Given the description of an element on the screen output the (x, y) to click on. 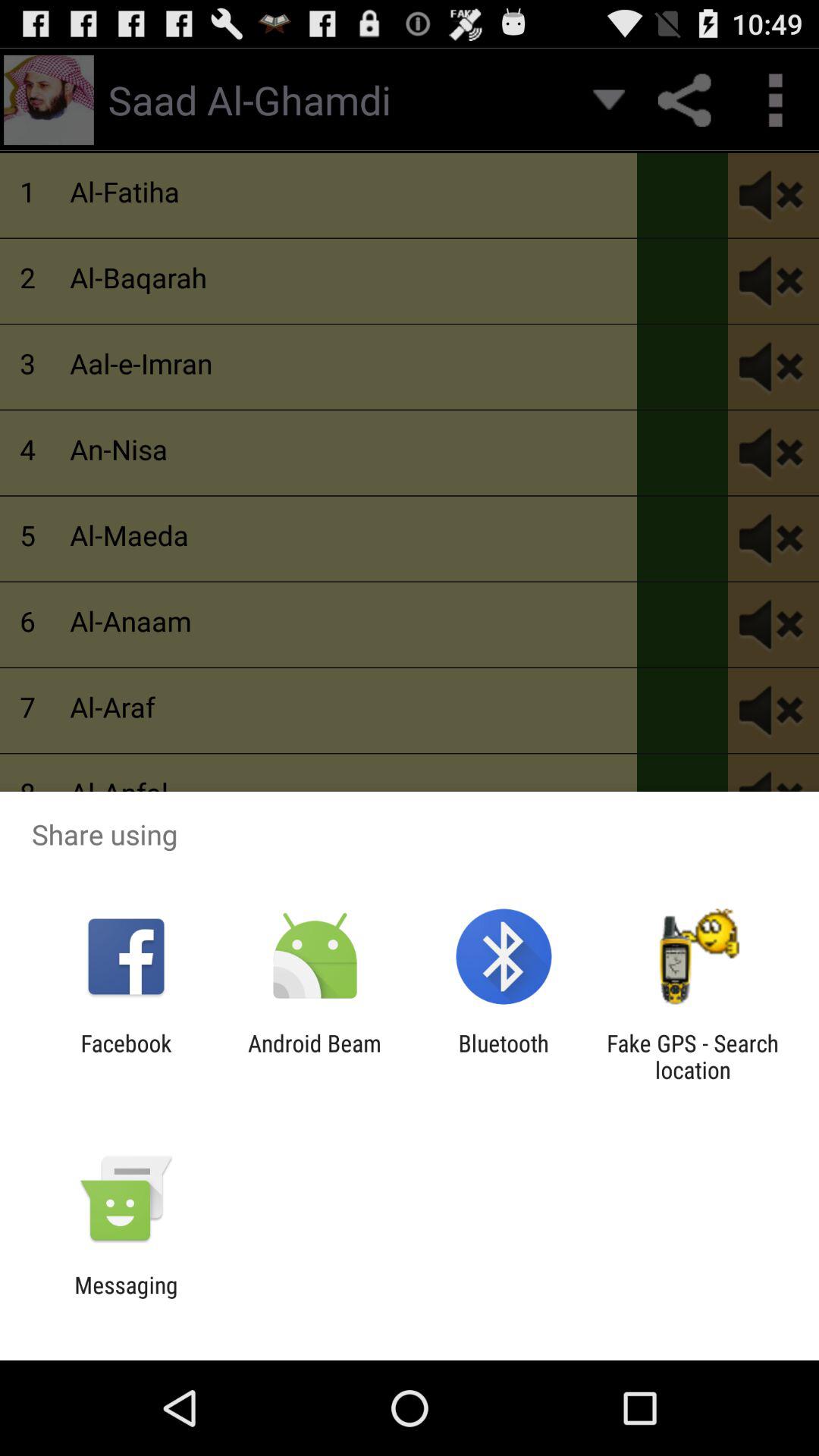
swipe to android beam item (314, 1056)
